Given the description of an element on the screen output the (x, y) to click on. 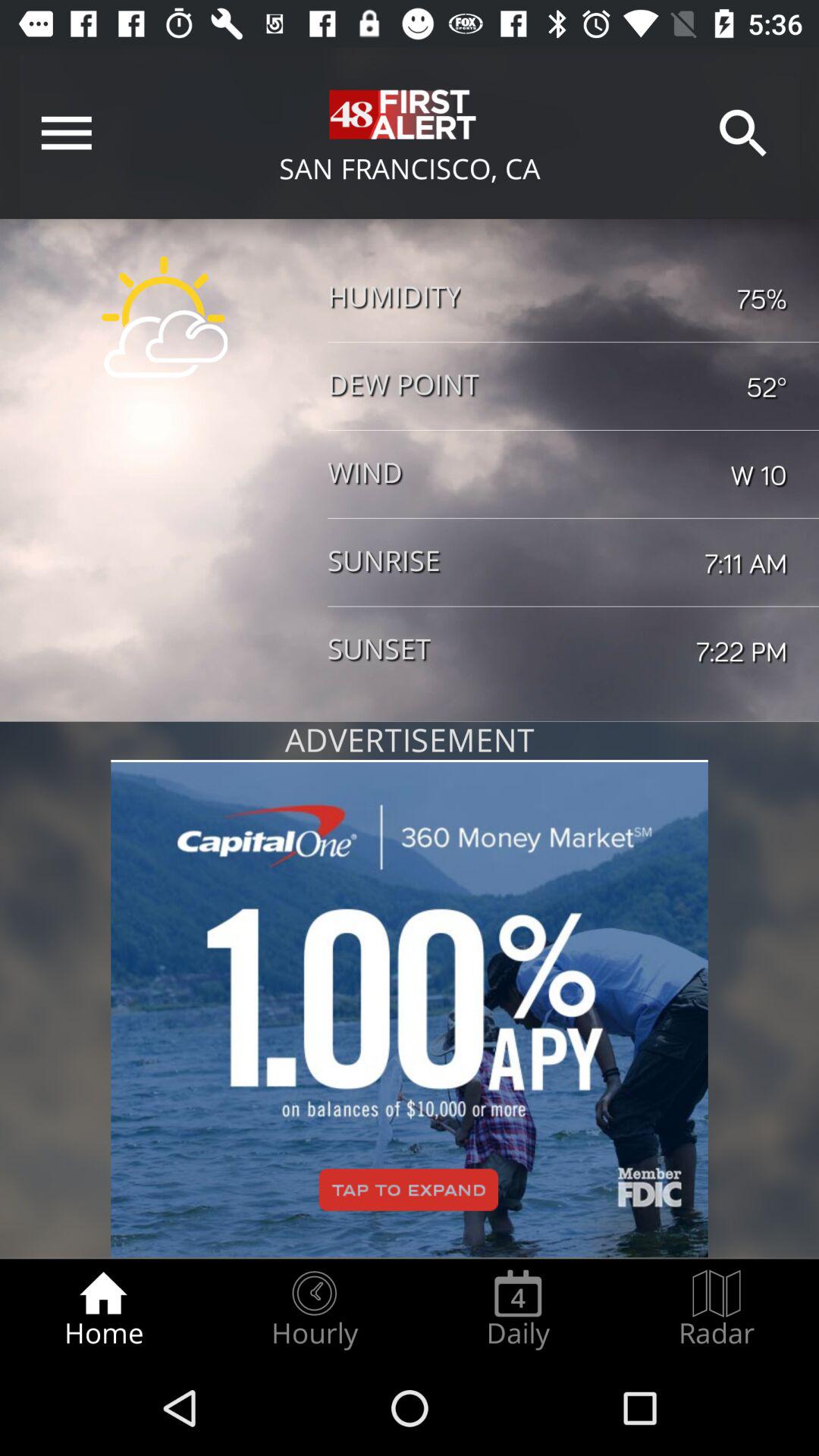
capital one add (409, 1008)
